Given the description of an element on the screen output the (x, y) to click on. 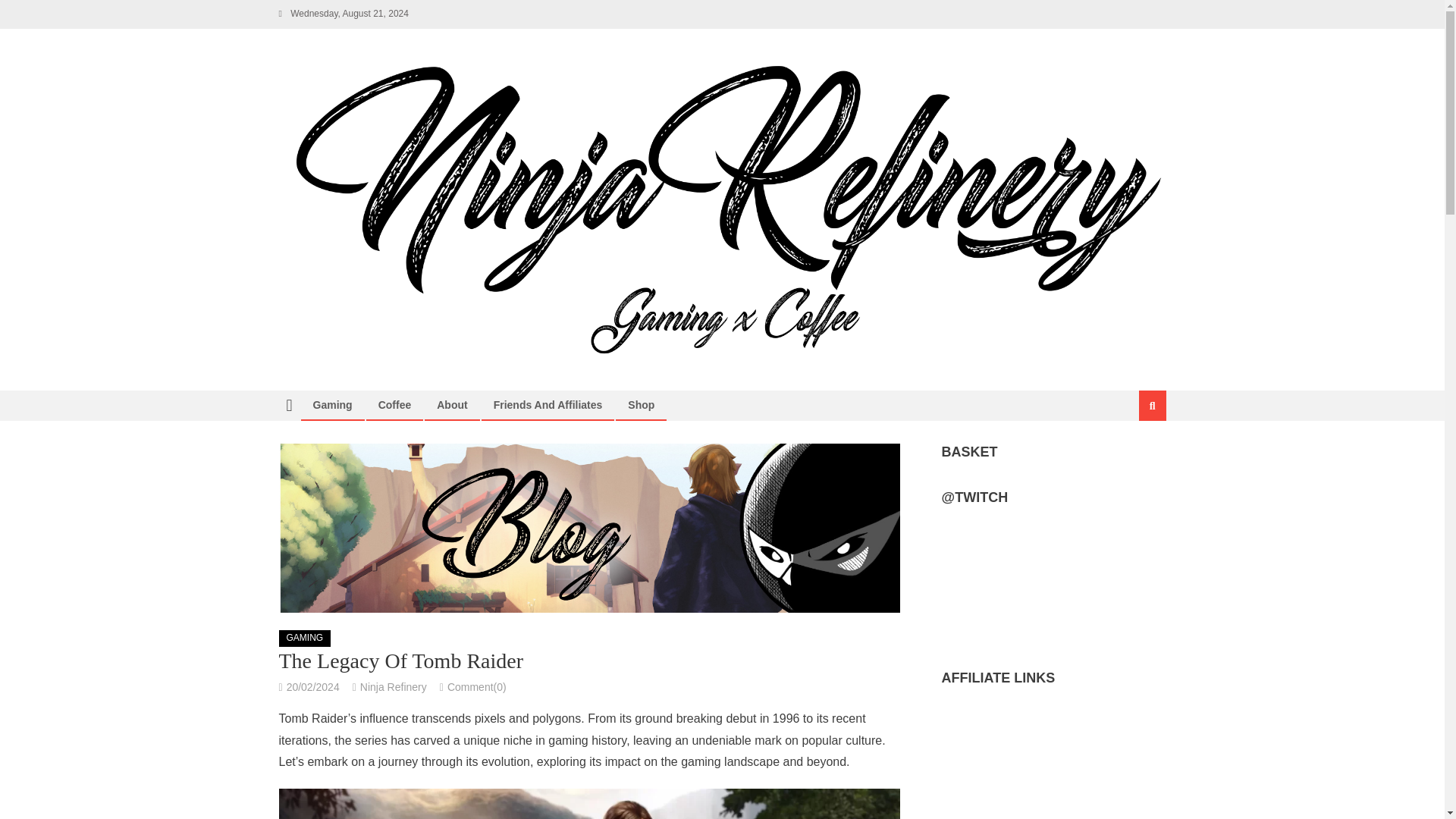
About (452, 404)
Shop (640, 404)
Friends And Affiliates (547, 404)
Gaming (332, 404)
Coffee (394, 404)
Search (1133, 456)
GAMING (305, 638)
Ninja Refinery (392, 686)
